Given the description of an element on the screen output the (x, y) to click on. 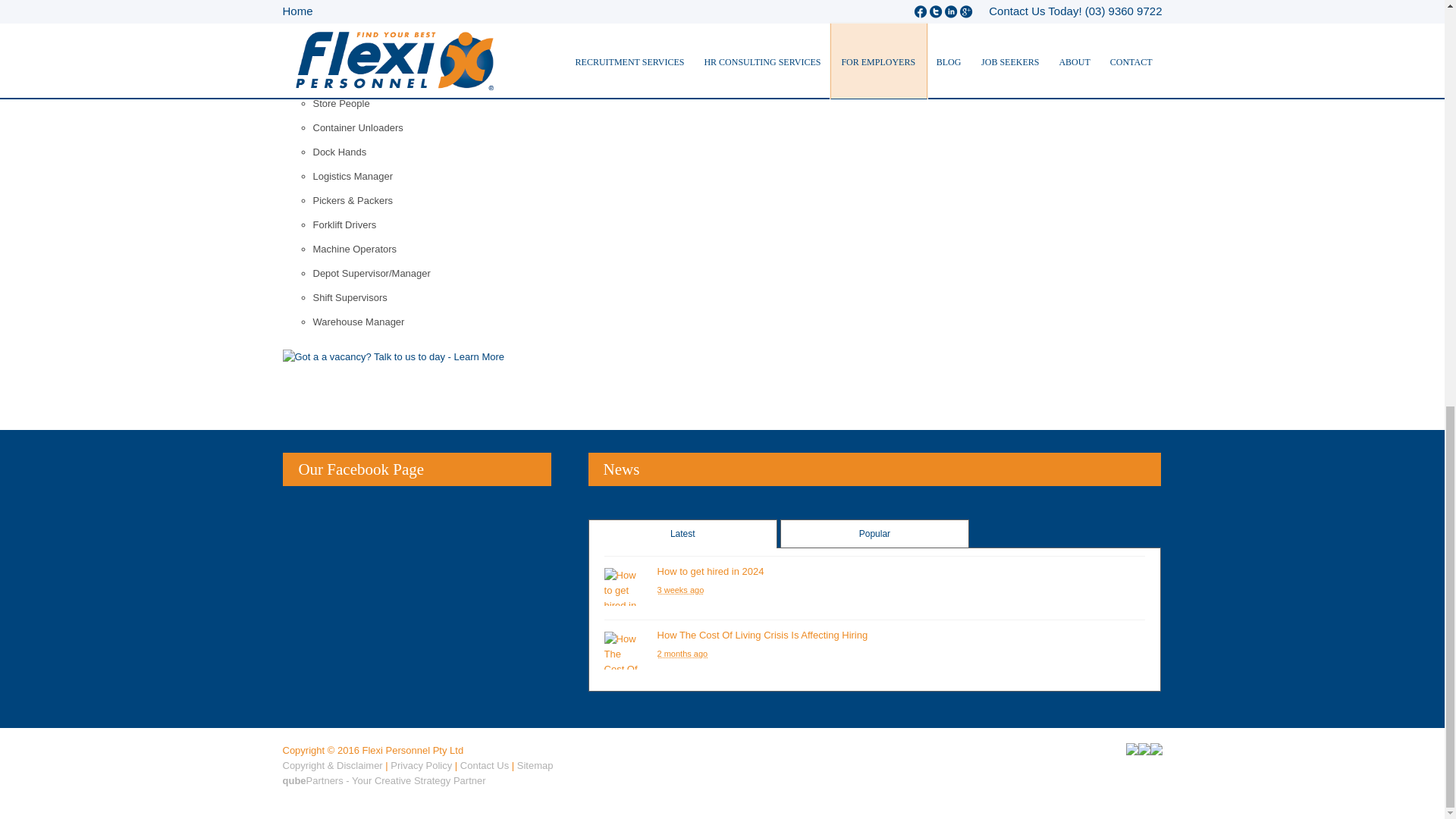
How to get hired in 2024 (623, 587)
How The Cost Of Living Crisis Is Affecting Hiring (762, 634)
How The Cost Of Living Crisis Is Affecting Hiring (623, 650)
13-06-2024 (682, 653)
Got a a vacancy? Talk to us to day - Learn More (392, 356)
How to get hired in 2024 (711, 571)
12-07-2024 (681, 590)
